Given the description of an element on the screen output the (x, y) to click on. 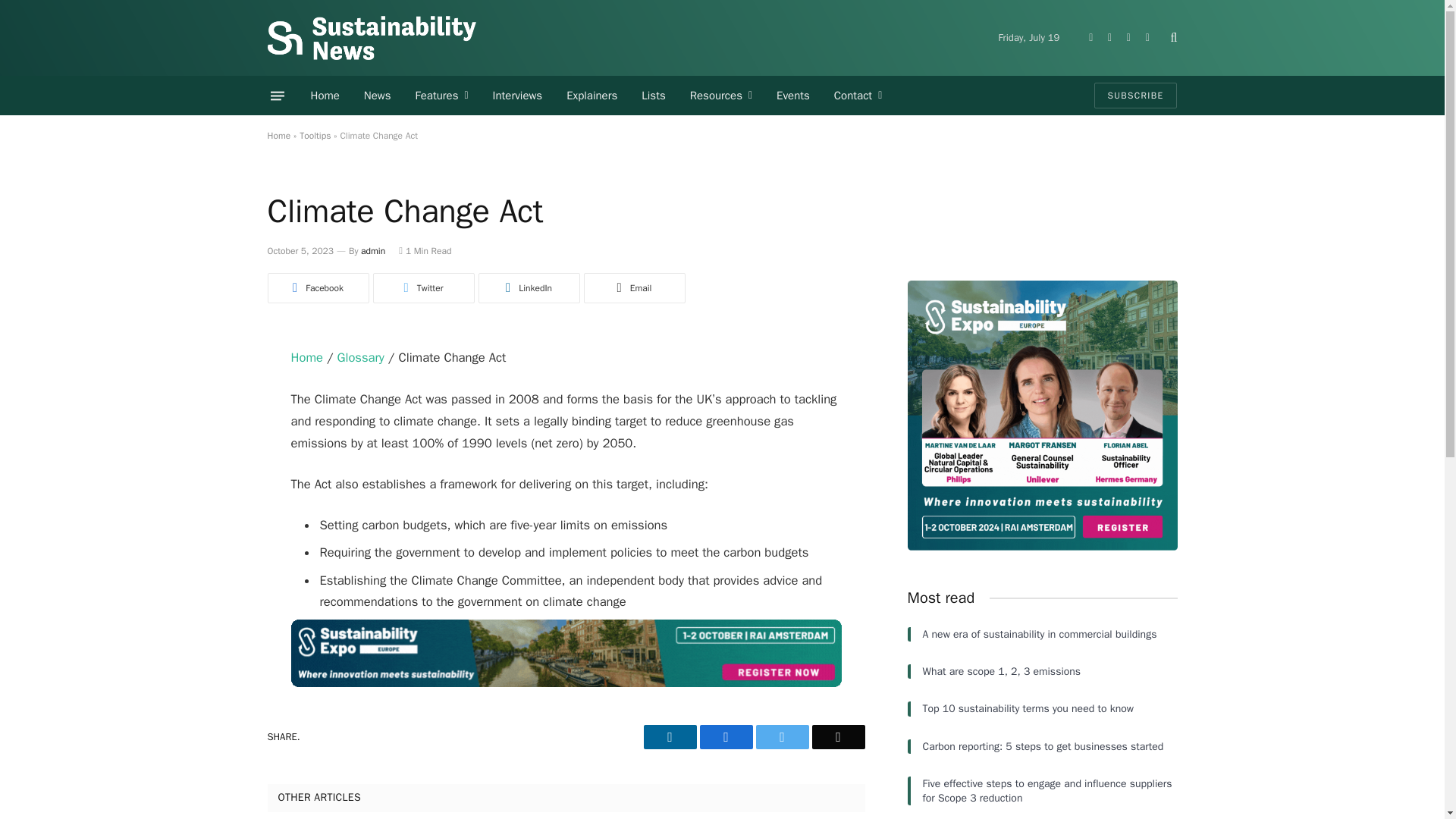
Share via Email (634, 287)
Posts by admin (373, 250)
Features (441, 95)
Share on Twitter (423, 287)
Share on Facebook (317, 287)
Interviews (517, 95)
Home (325, 95)
News (377, 95)
Share on LinkedIn (528, 287)
